Given the description of an element on the screen output the (x, y) to click on. 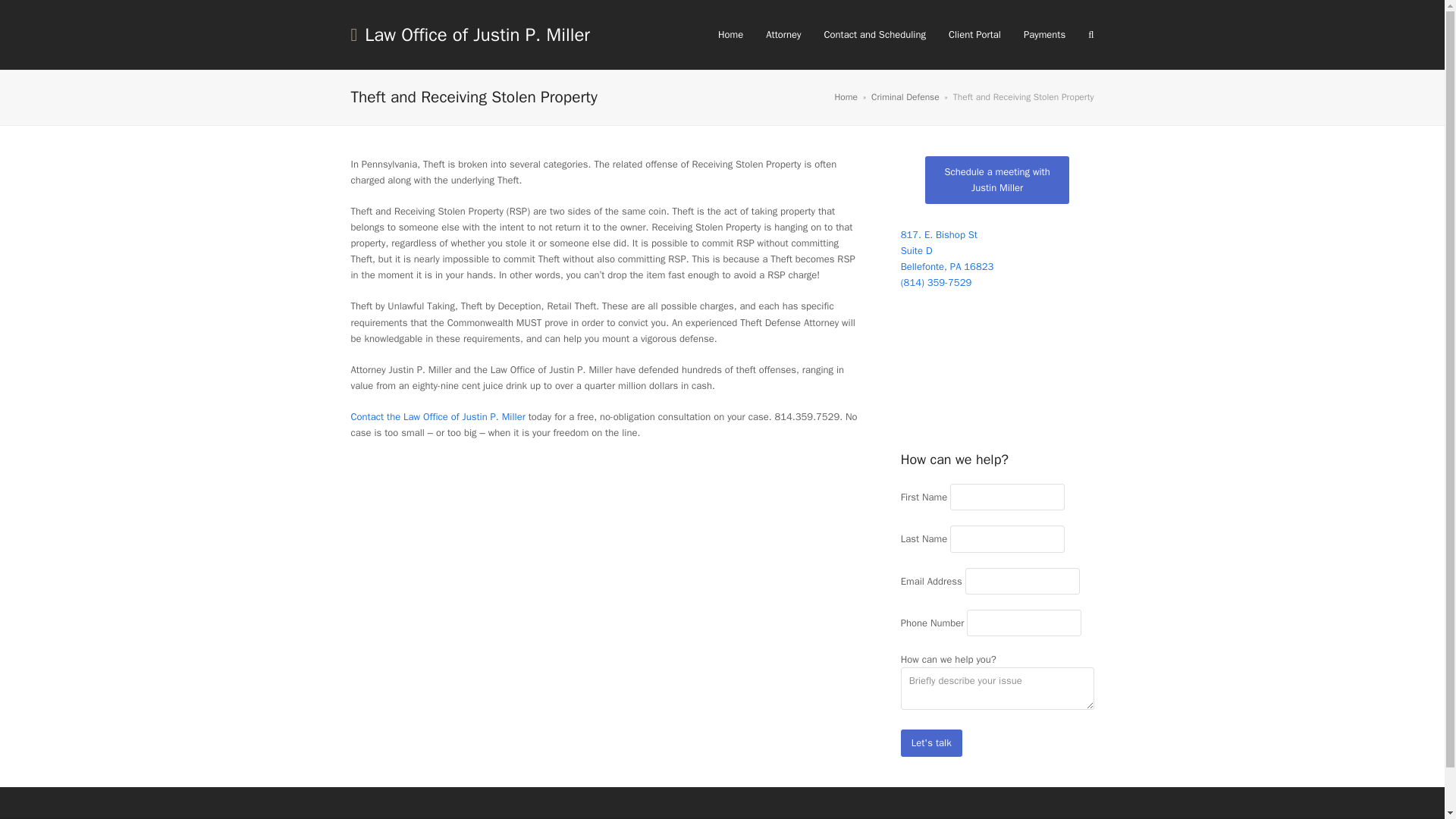
Payments (1044, 34)
Attorney (783, 34)
Let's talk (931, 742)
Contact and Location (437, 416)
Google Map (997, 370)
Let's talk (931, 742)
Open address in Google Maps (997, 250)
Schedule a meeting with Justin Miller (997, 250)
Home (996, 180)
